Given the description of an element on the screen output the (x, y) to click on. 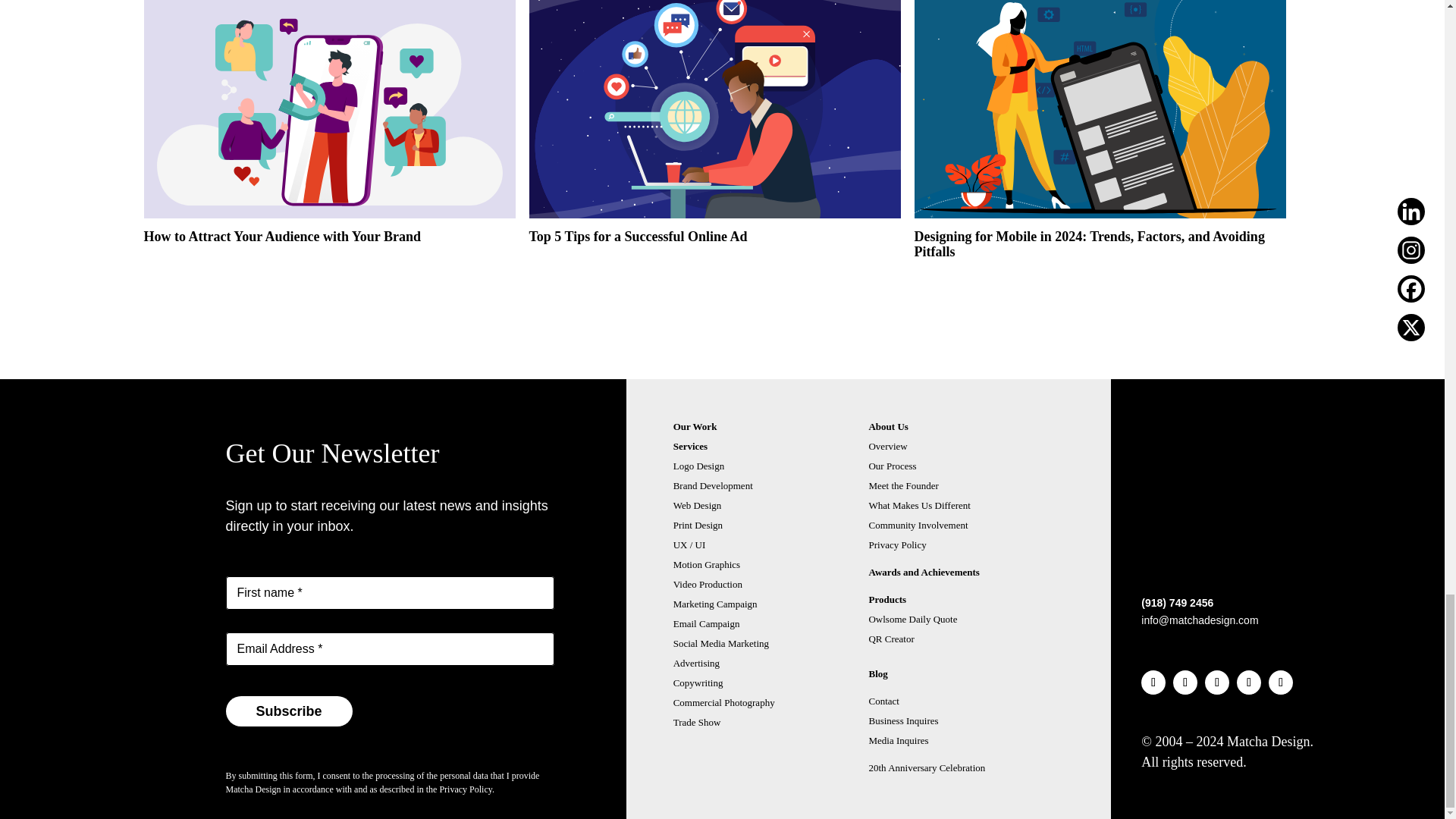
Follow on Instagram (1184, 682)
Subscribe (288, 711)
Follow on Facebook (1216, 682)
Matcha Design Logo white (1166, 559)
Email Address (389, 648)
Follow on LinkedIn (1153, 682)
First name (389, 592)
